Given the description of an element on the screen output the (x, y) to click on. 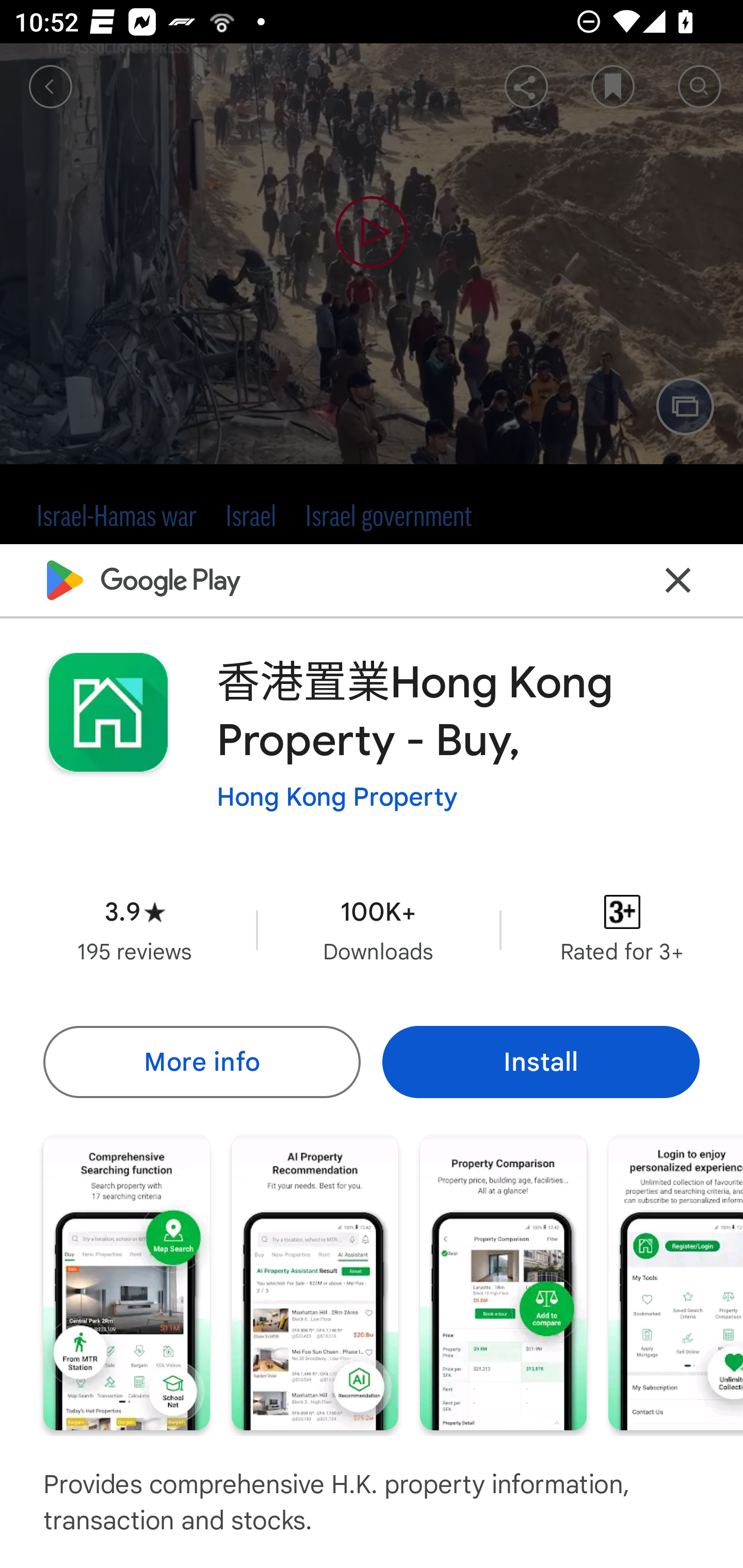
Close (677, 580)
Hong Kong Property (337, 796)
More info (201, 1061)
Install (540, 1061)
Screenshot "1" of "7" (126, 1281)
Screenshot "2" of "7" (314, 1281)
Screenshot "3" of "7" (502, 1281)
Screenshot "4" of "7" (675, 1281)
